Given the description of an element on the screen output the (x, y) to click on. 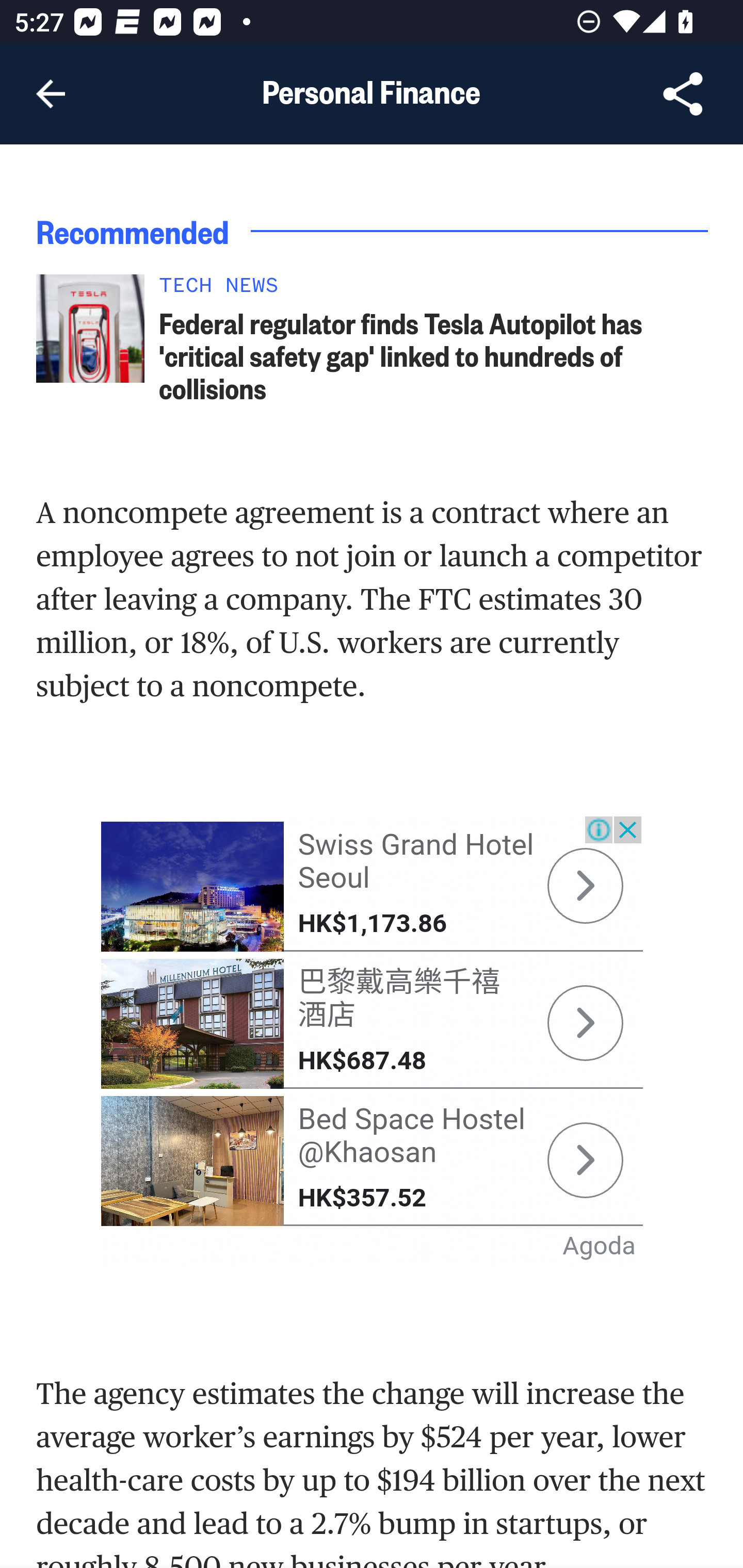
Navigate up (50, 93)
Share Article, button (683, 94)
TECH NEWS (434, 290)
partnersearch (193, 887)
Swiss Grand Hotel Seoul Swiss Grand Hotel Seoul (415, 861)
partnersearch (584, 886)
HK$1,173.86 (372, 923)
partnersearch (193, 1023)
巴黎戴高樂千禧 酒店 巴黎戴高樂千禧 酒店 (399, 999)
partnersearch (584, 1024)
HK$687.48 (361, 1060)
partnersearch (193, 1161)
partnersearch (584, 1160)
HK$357.52 (361, 1198)
Agoda (599, 1246)
